Given the description of an element on the screen output the (x, y) to click on. 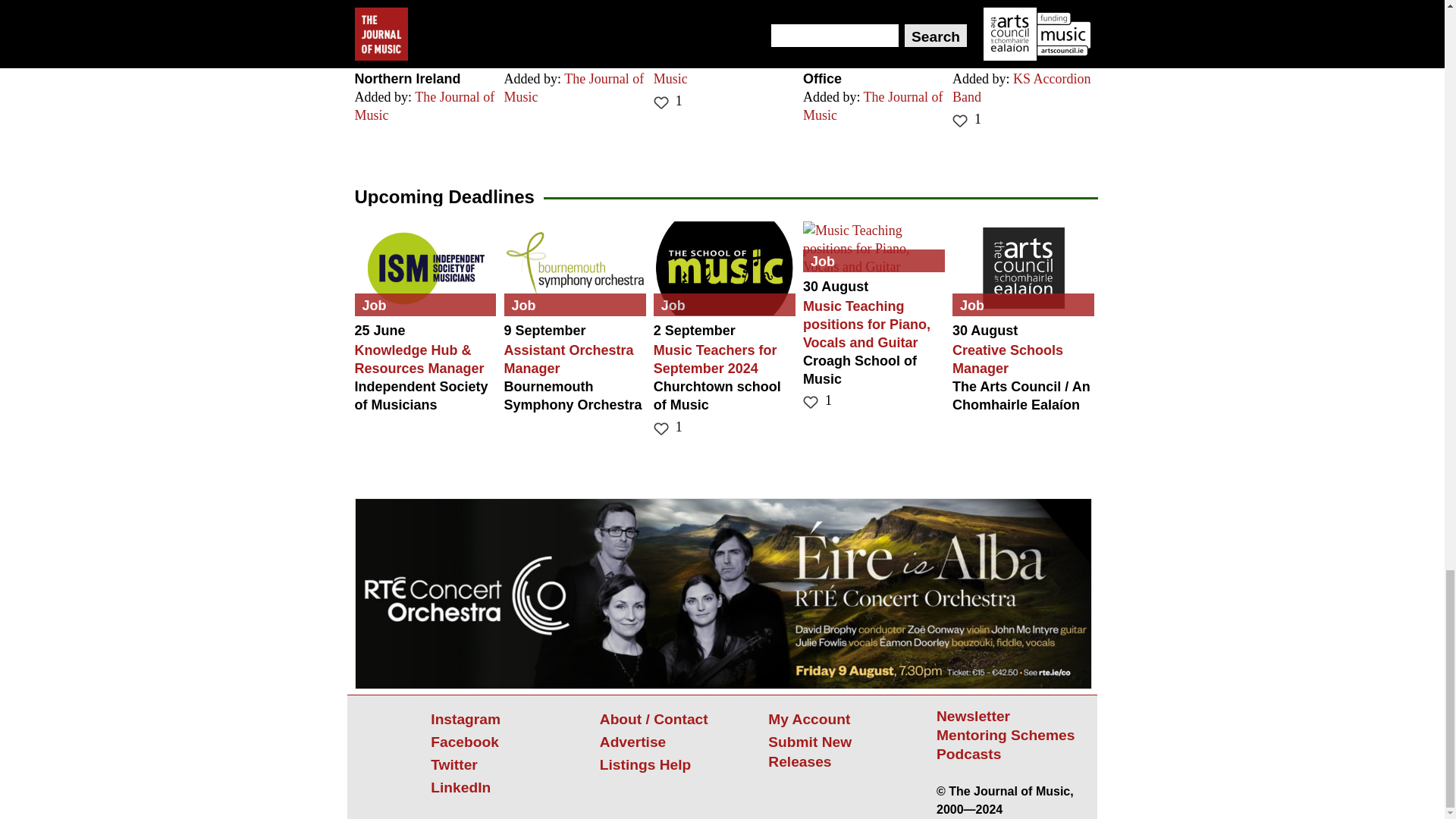
Creative Schools Manager (1023, 268)
 Music Teaching positions for  Piano, Vocals and Guitar (873, 248)
Assistant Orchestra Manager (574, 268)
Music Teachers for September 2024 (723, 268)
